Given the description of an element on the screen output the (x, y) to click on. 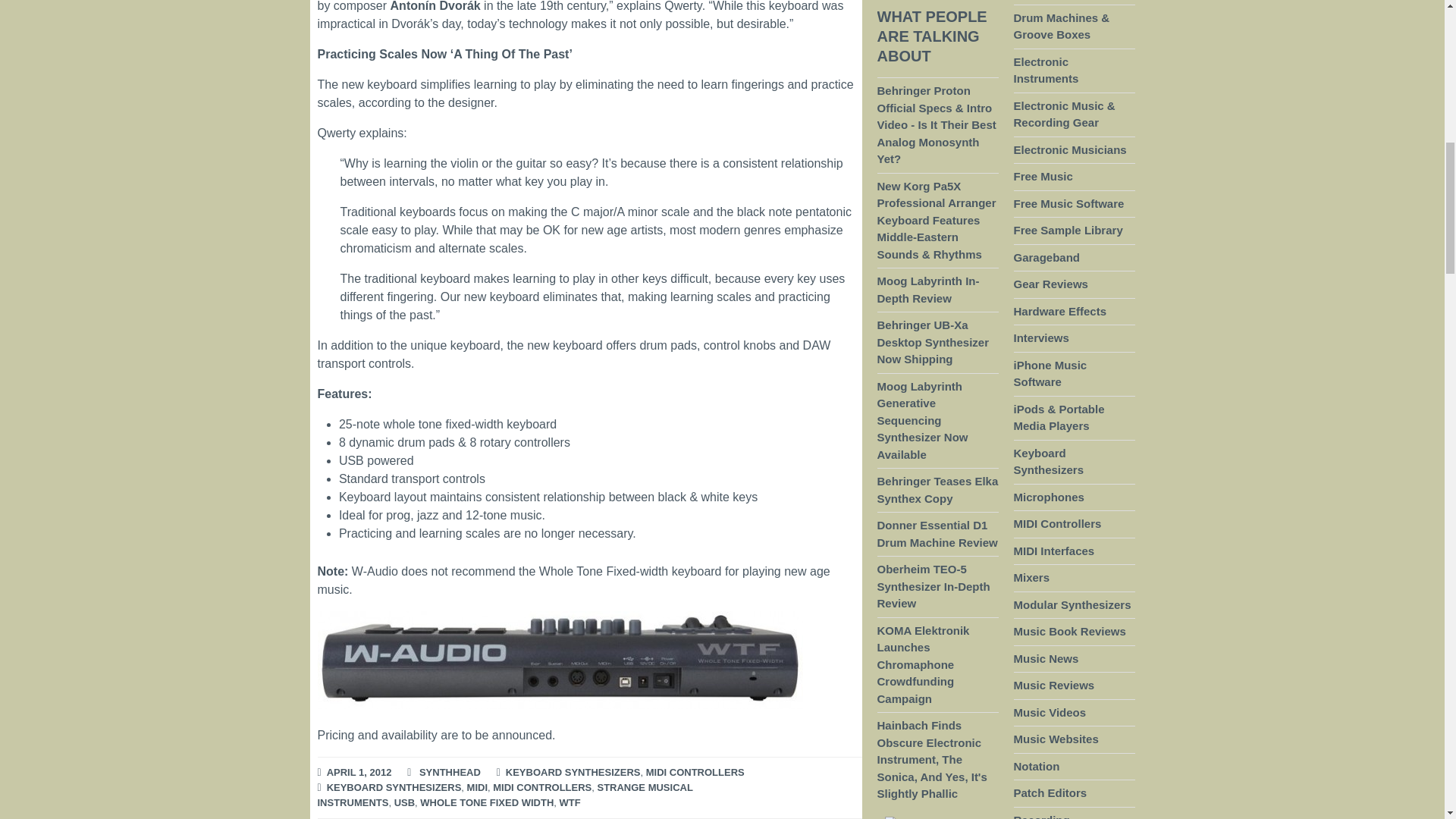
w-audio-wtf-backside (559, 659)
WTF (569, 802)
SYNTHHEAD (449, 772)
MIDI CONTROLLERS (695, 772)
STRANGE MUSICAL INSTRUMENTS (505, 795)
MIDI CONTROLLERS (542, 788)
USB (404, 802)
WHOLE TONE FIXED WIDTH (486, 802)
APRIL 1, 2012 (358, 772)
KEYBOARD SYNTHESIZERS (572, 772)
KEYBOARD SYNTHESIZERS (393, 788)
MIDI (477, 788)
